Given the description of an element on the screen output the (x, y) to click on. 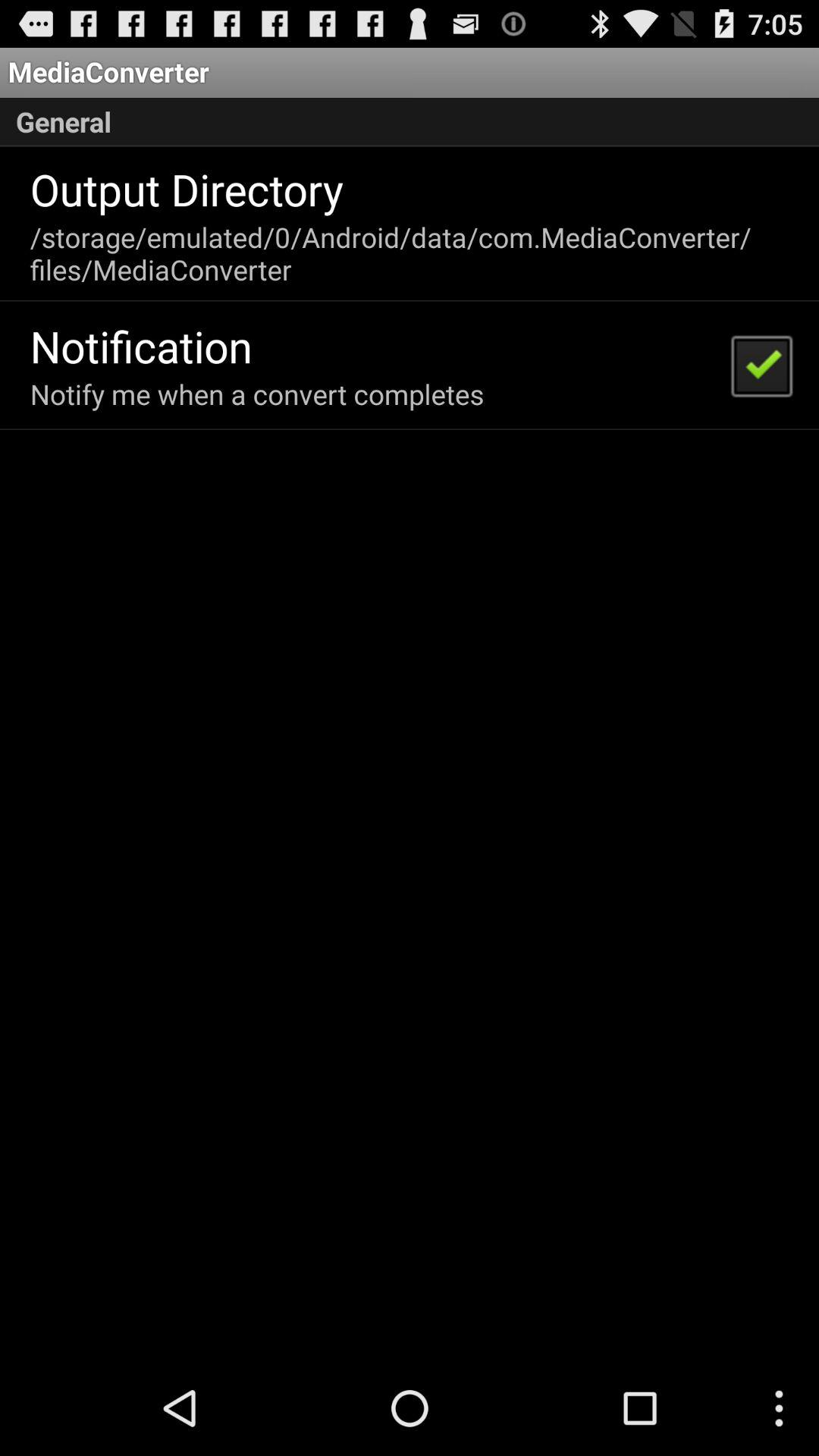
choose the notify me when item (257, 393)
